Given the description of an element on the screen output the (x, y) to click on. 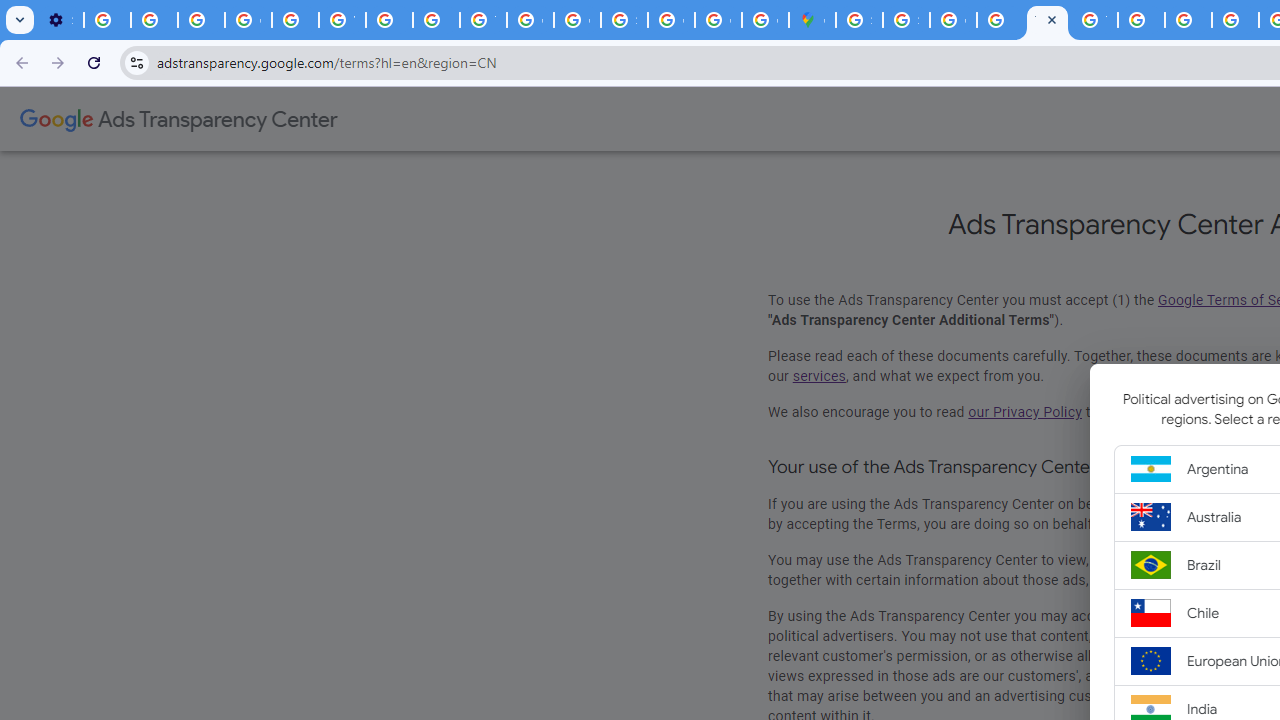
Google Maps (811, 20)
Go to Ads Transparency Center home page. (178, 120)
Google Account Help (248, 20)
YouTube (342, 20)
Privacy Help Center - Policies Help (436, 20)
https://scholar.google.com/ (389, 20)
Sign in - Google Accounts (906, 20)
